Given the description of an element on the screen output the (x, y) to click on. 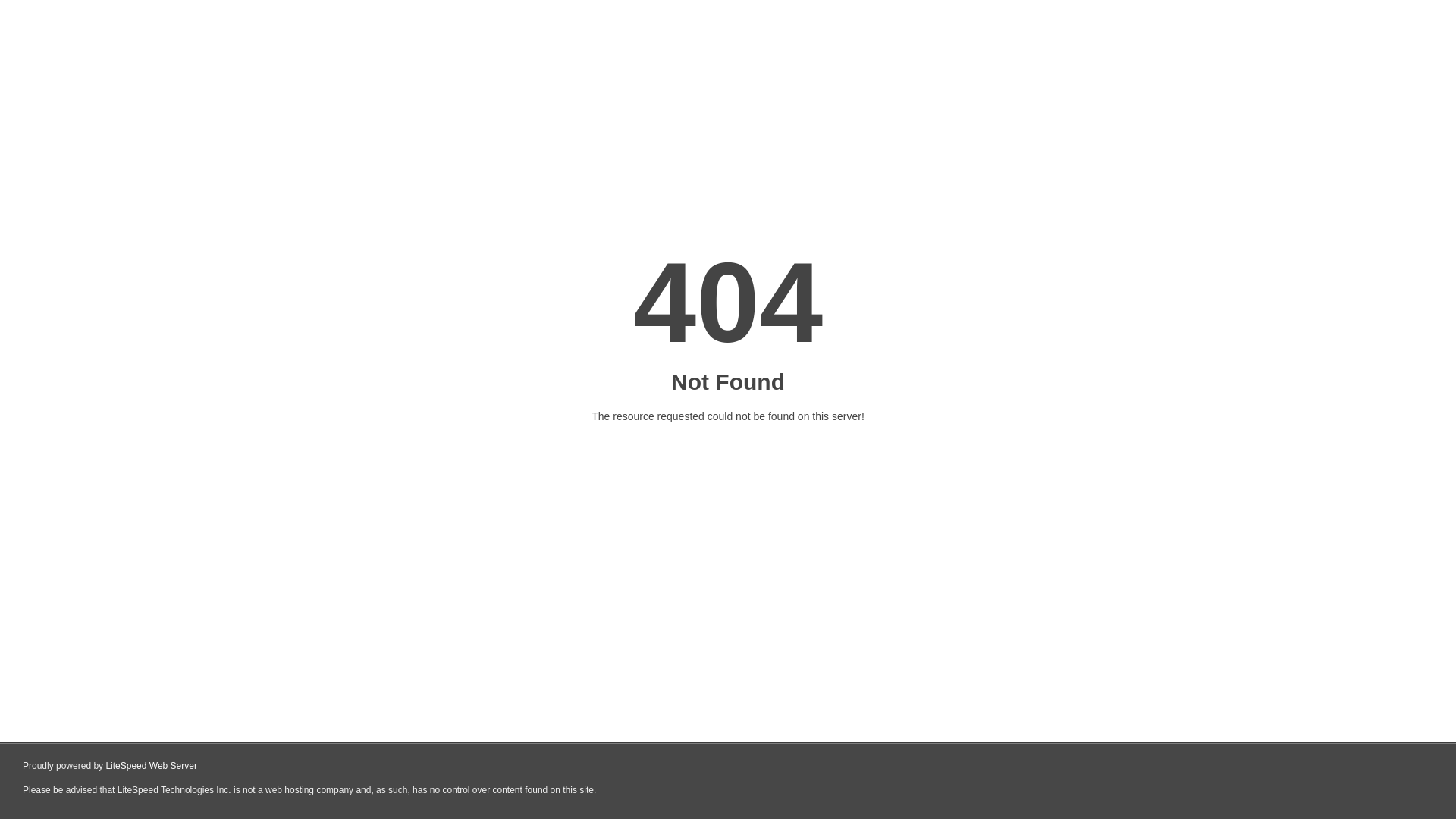
LiteSpeed Web Server Element type: text (151, 765)
